Given the description of an element on the screen output the (x, y) to click on. 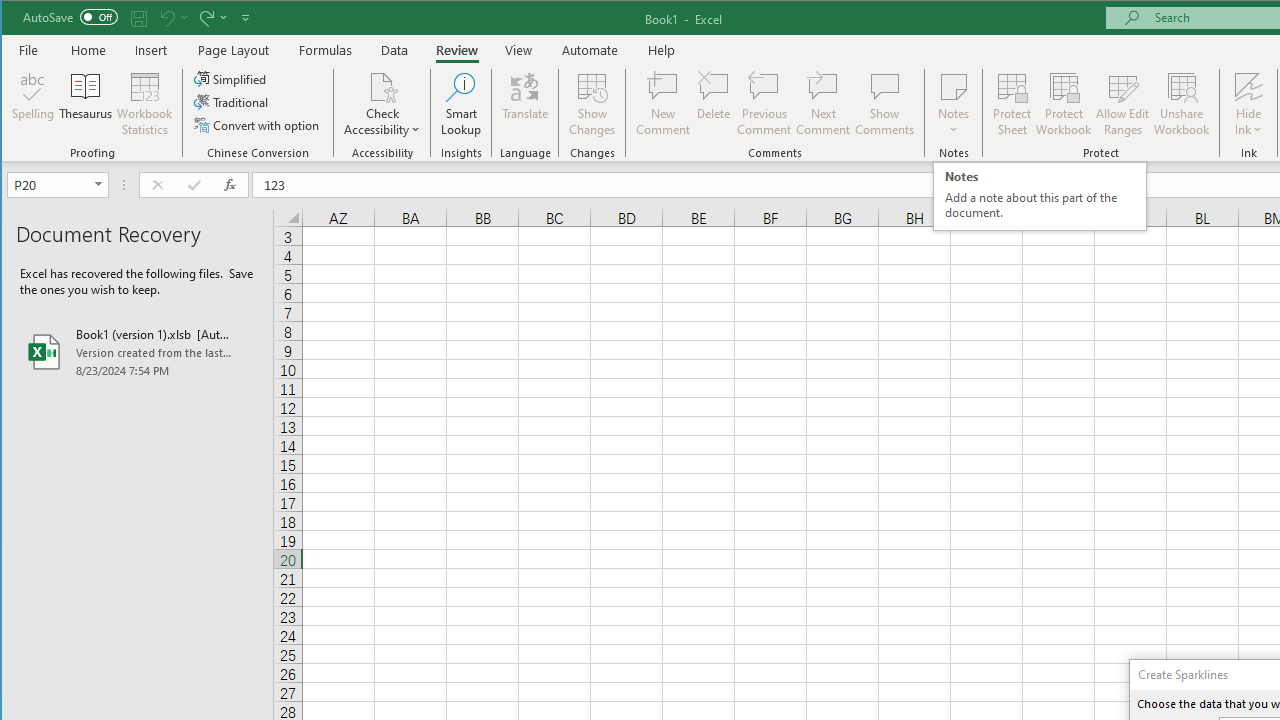
Delete (713, 104)
Protect Workbook... (1064, 104)
Protect Sheet... (1012, 104)
Unshare Workbook (1182, 104)
Show Comments (884, 104)
Thesaurus... (86, 104)
Hide Ink (1248, 104)
Translate (525, 104)
